Given the description of an element on the screen output the (x, y) to click on. 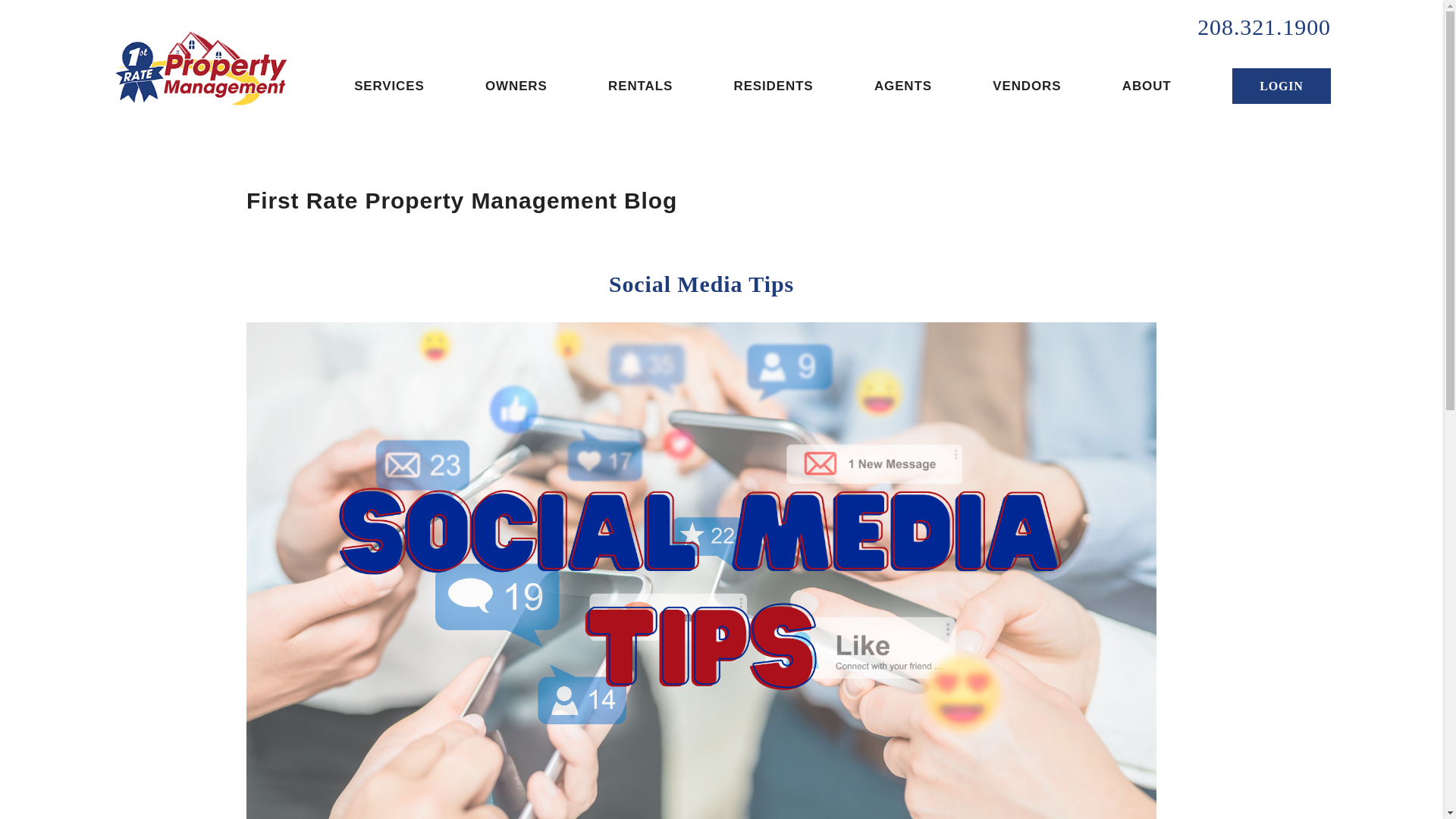
ABOUT (1147, 85)
OWNERS (515, 85)
RESIDENTS (773, 85)
208.321.1900 (1263, 26)
VENDORS (1026, 85)
SERVICES (388, 85)
AGENTS (903, 85)
RENTALS (640, 85)
